Given the description of an element on the screen output the (x, y) to click on. 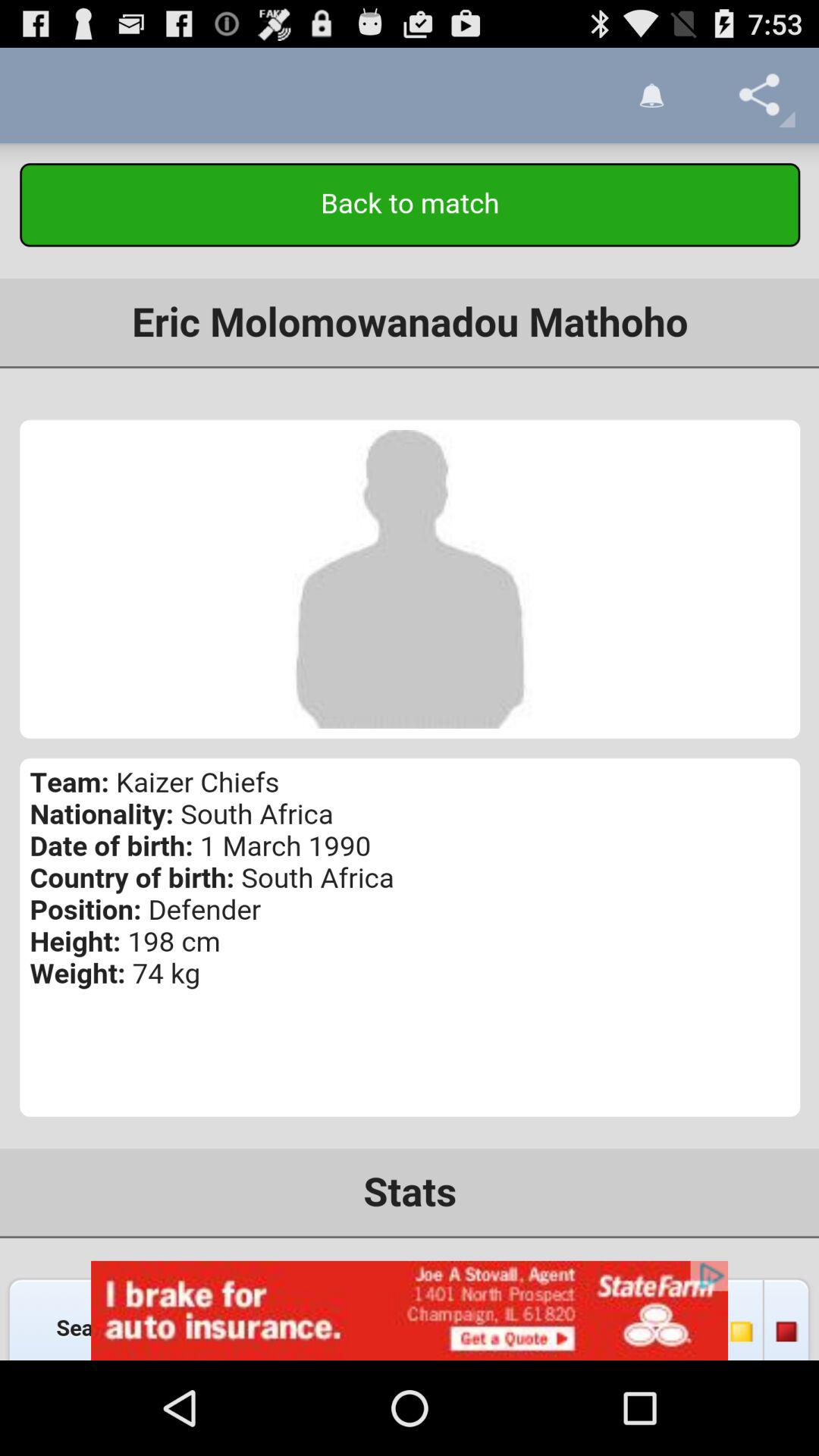
open advertisements (409, 1310)
